Given the description of an element on the screen output the (x, y) to click on. 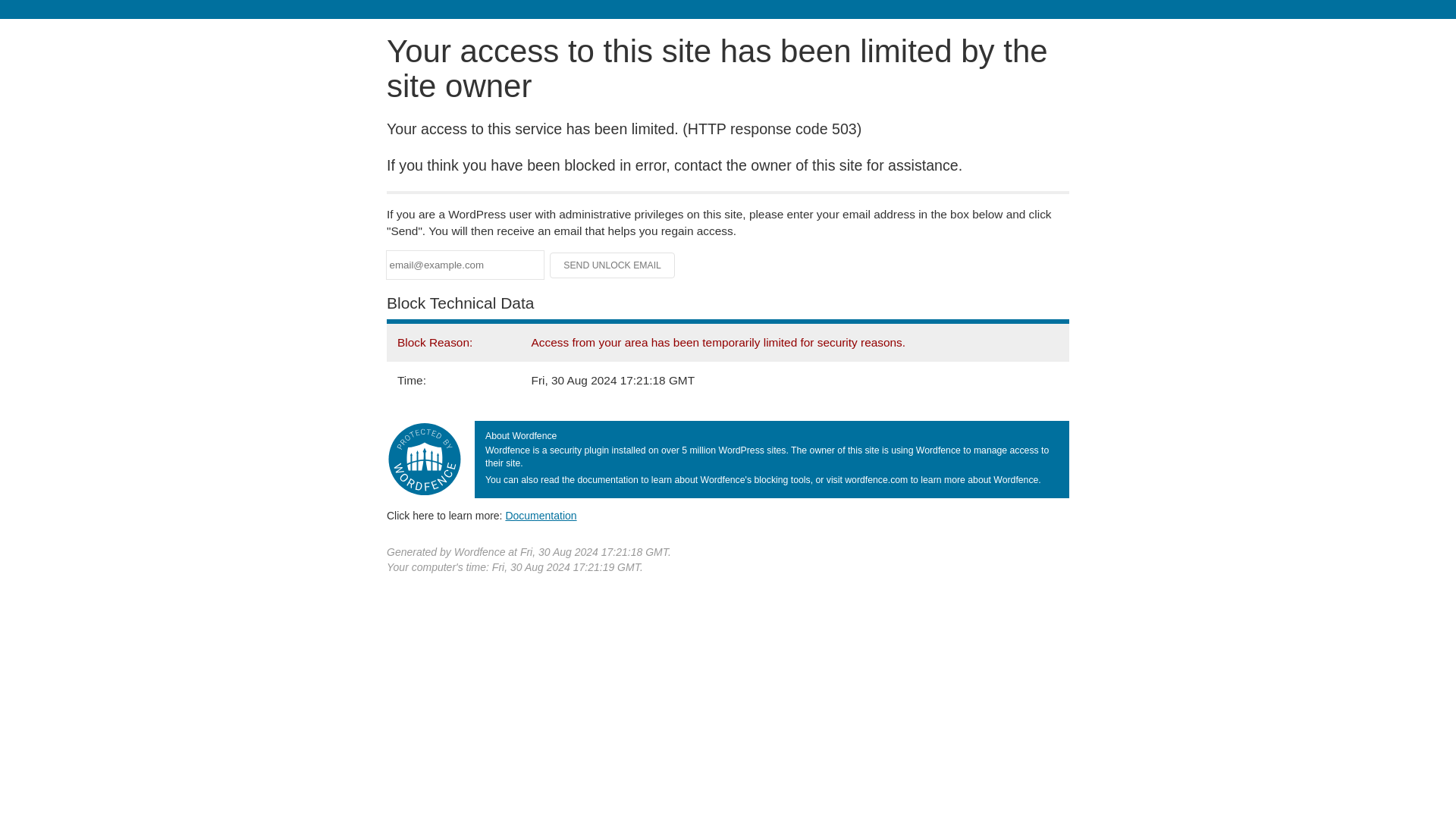
Documentation (540, 515)
Send Unlock Email (612, 265)
Send Unlock Email (612, 265)
